Given the description of an element on the screen output the (x, y) to click on. 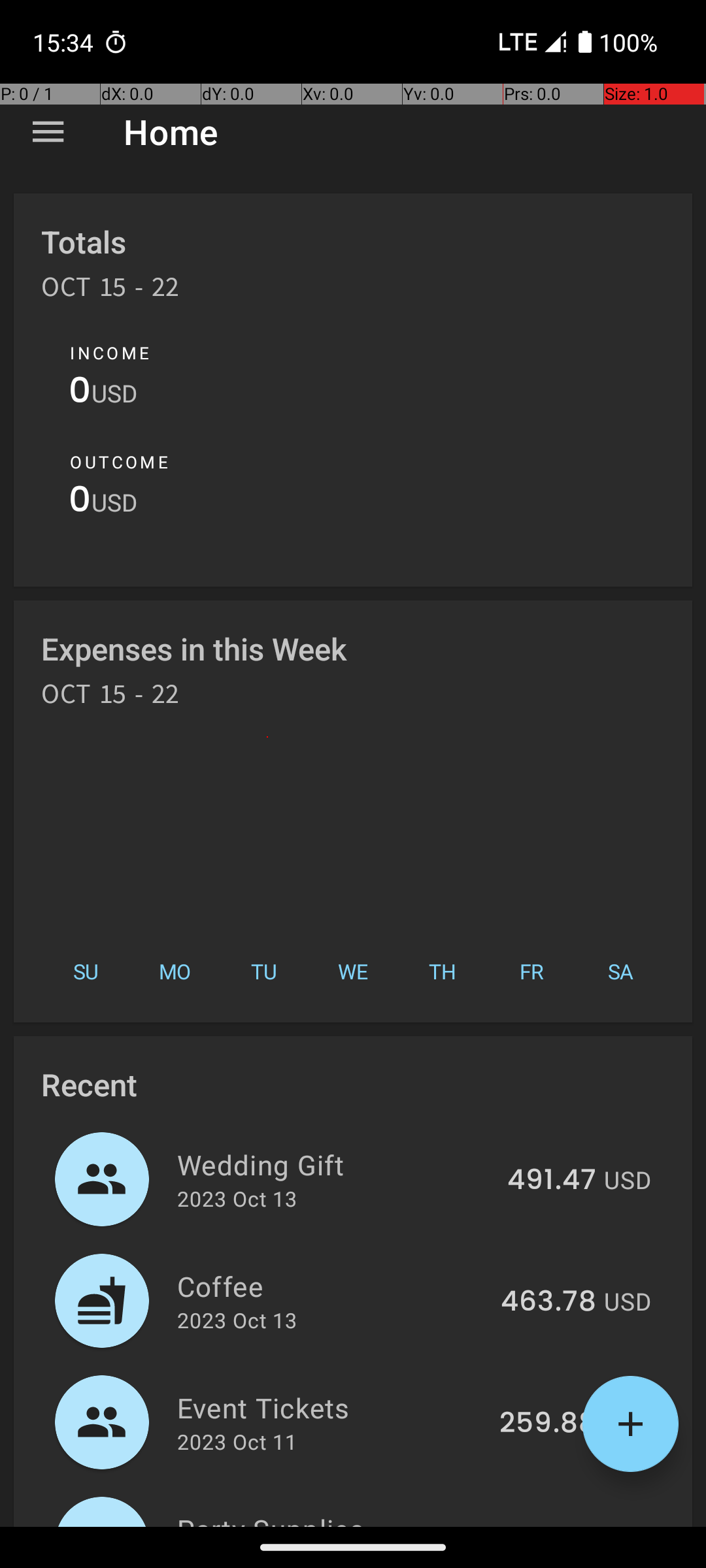
Wedding Gift Element type: android.widget.TextView (334, 1164)
491.47 Element type: android.widget.TextView (551, 1180)
Coffee Element type: android.widget.TextView (331, 1285)
463.78 Element type: android.widget.TextView (548, 1301)
259.88 Element type: android.widget.TextView (547, 1423)
134.36 Element type: android.widget.TextView (551, 1524)
